Given the description of an element on the screen output the (x, y) to click on. 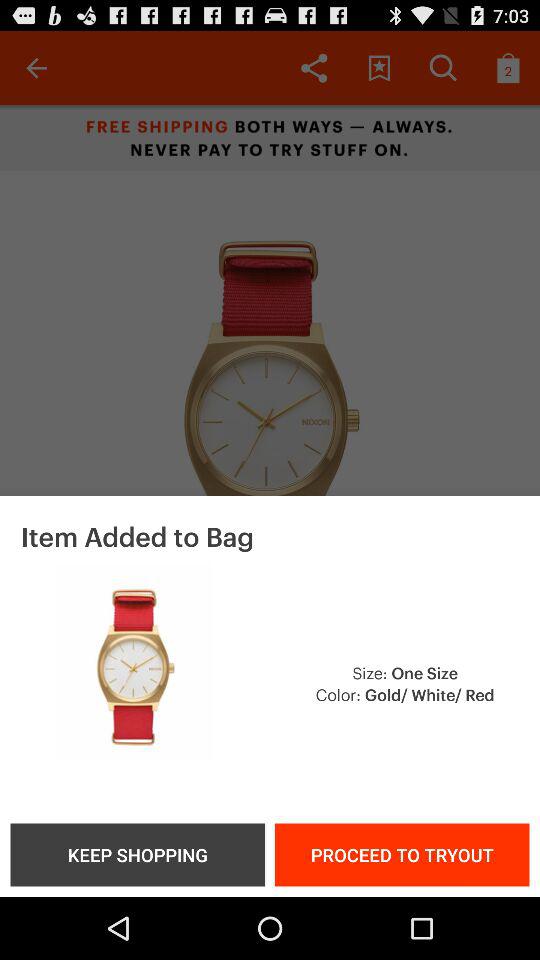
scroll until the keep shopping item (137, 854)
